Given the description of an element on the screen output the (x, y) to click on. 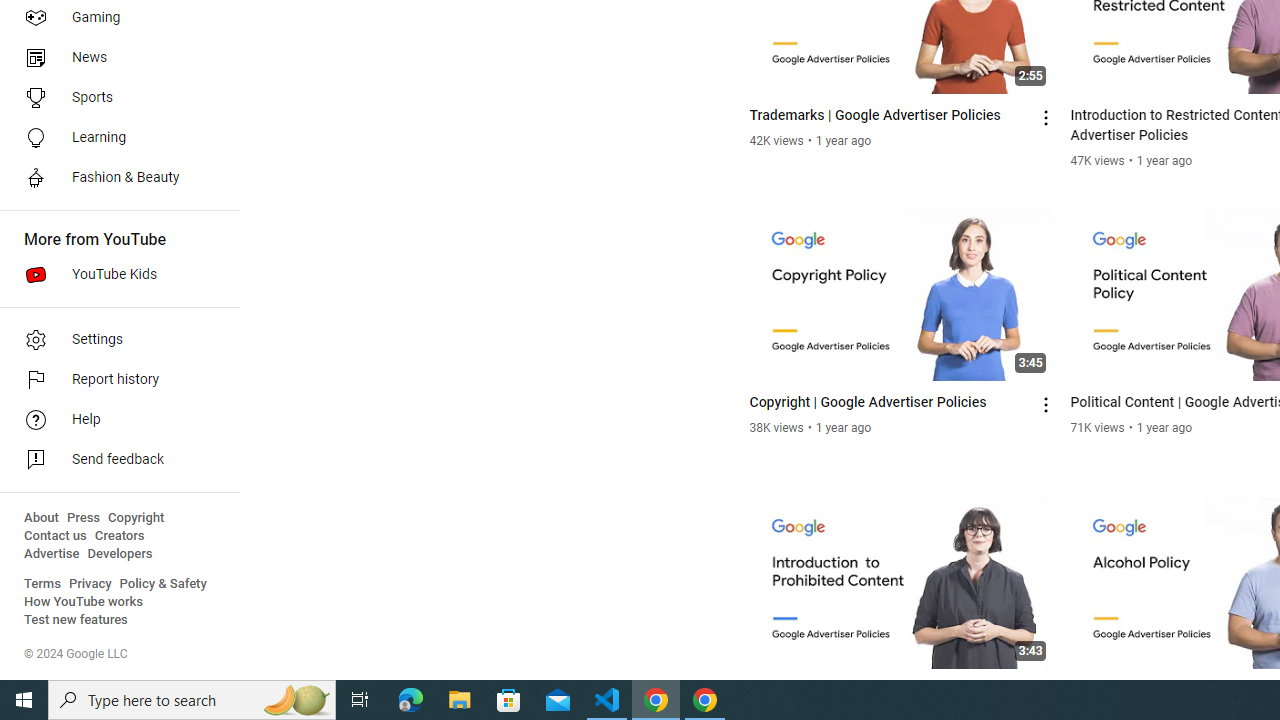
About (41, 518)
Settings (113, 339)
News (113, 57)
Contact us (55, 536)
Help (113, 419)
How YouTube works (83, 602)
Send feedback (113, 459)
Creators (118, 536)
Advertise (51, 554)
Terms (42, 584)
Learning (113, 137)
Fashion & Beauty (113, 177)
Test new features (76, 620)
